Given the description of an element on the screen output the (x, y) to click on. 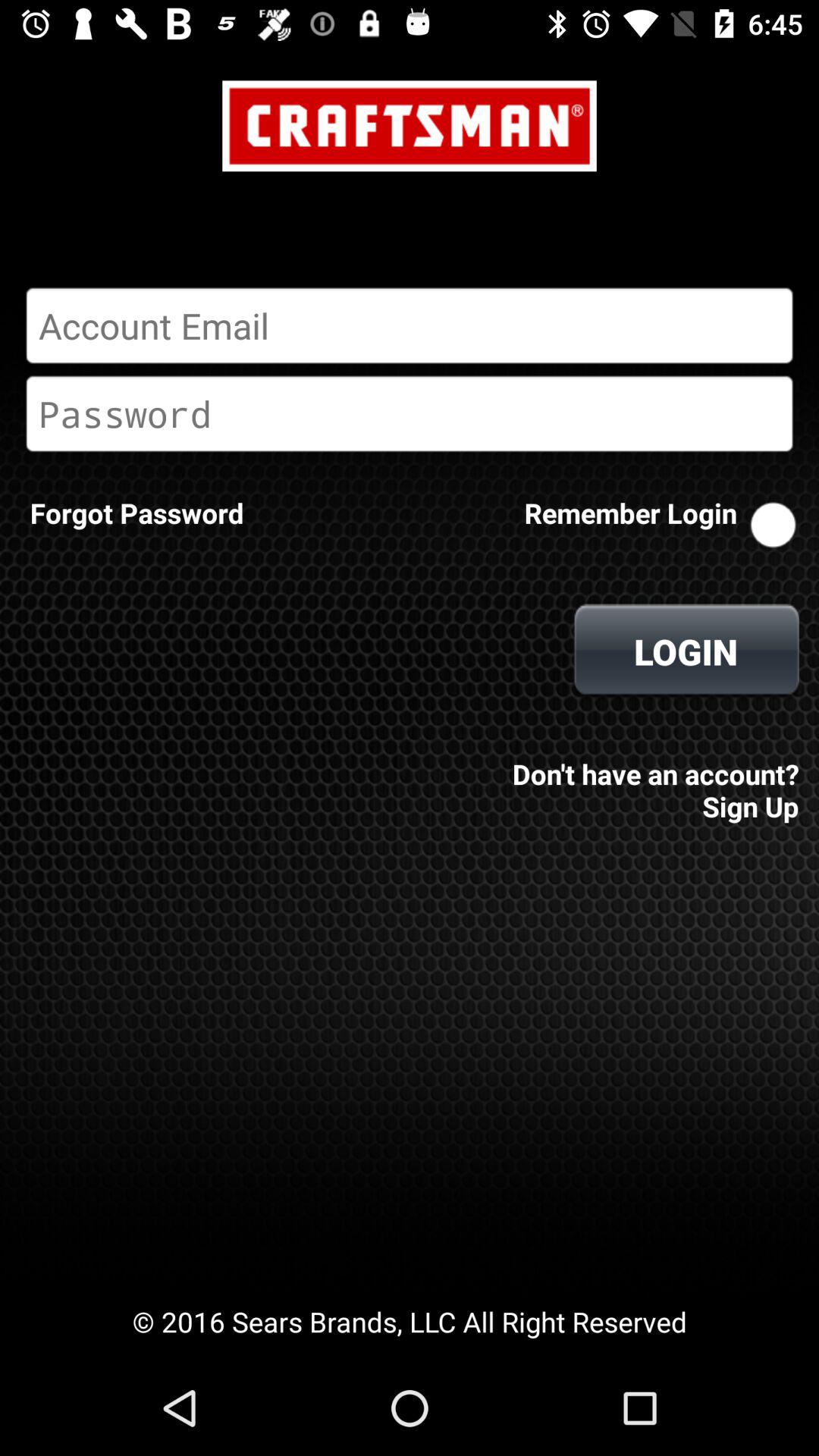
login email (409, 325)
